Given the description of an element on the screen output the (x, y) to click on. 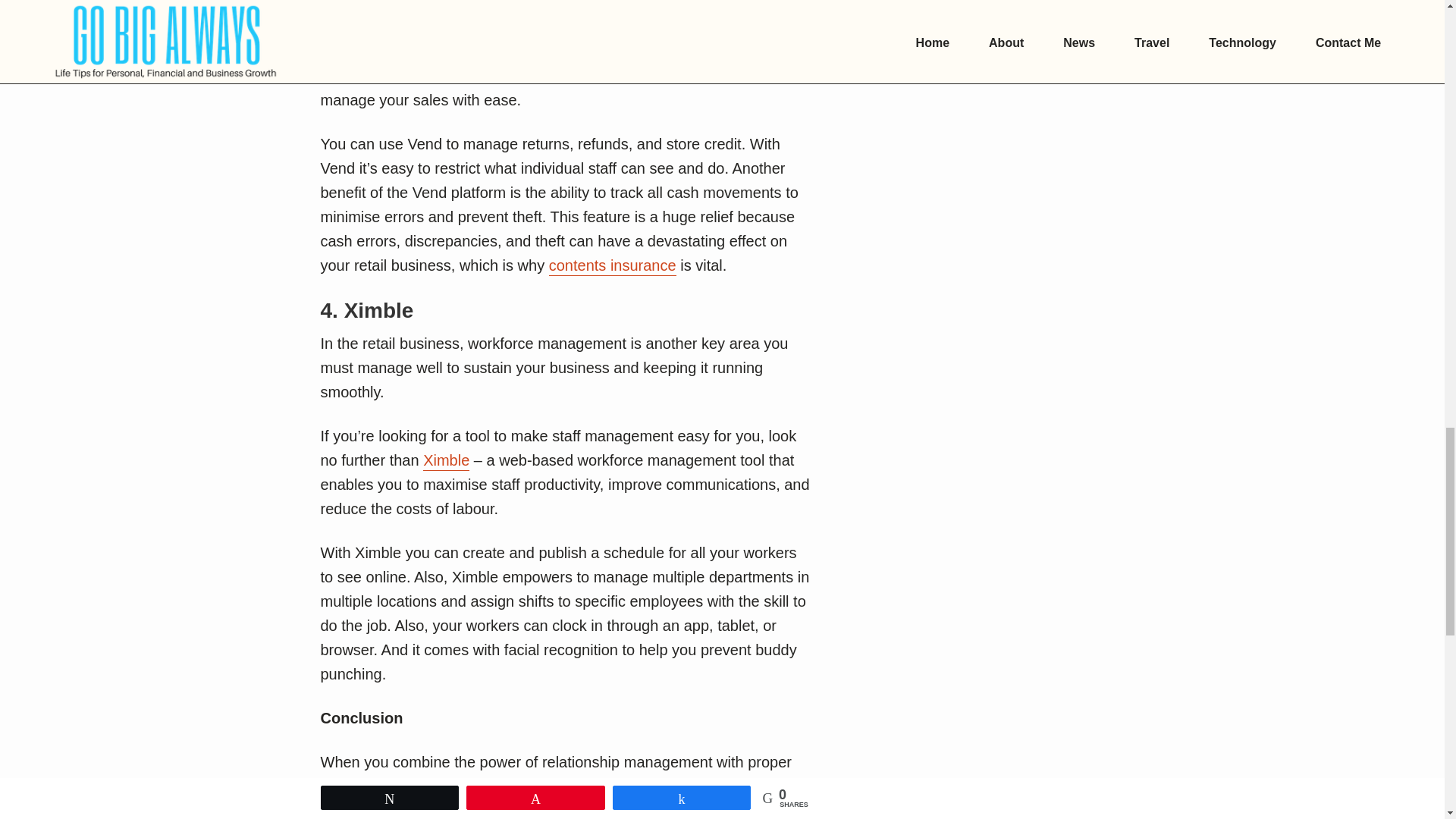
contents insurance (612, 266)
Vend POS (505, 52)
Ximble (445, 461)
